Given the description of an element on the screen output the (x, y) to click on. 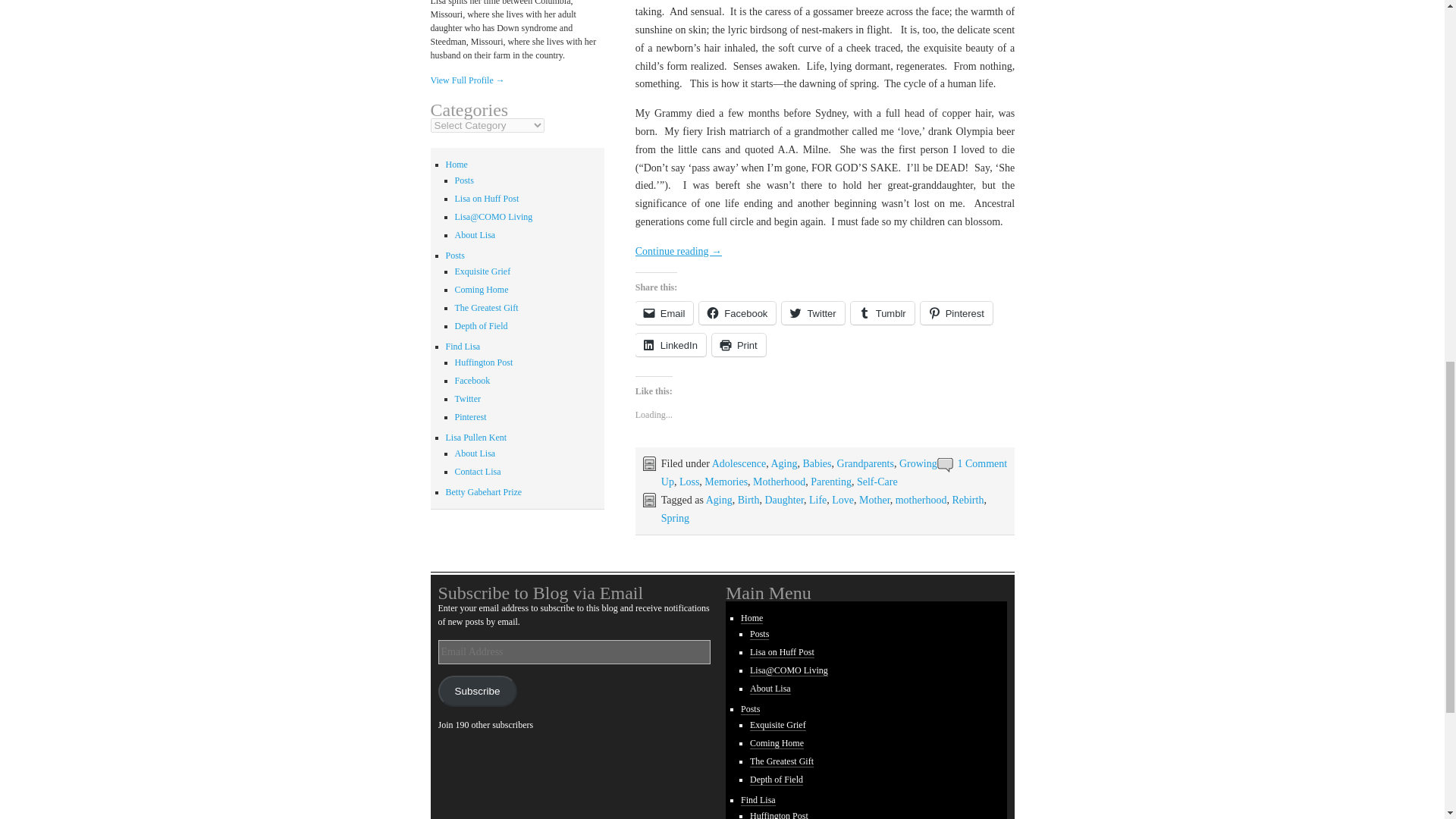
Twitter (812, 313)
Adolescence (739, 463)
Facebook (737, 313)
Growing Up (799, 472)
LinkedIn (670, 344)
Click to print (738, 344)
Babies (816, 463)
Click to email a link to a friend (664, 313)
1 Comment (981, 463)
Aging (783, 463)
